Given the description of an element on the screen output the (x, y) to click on. 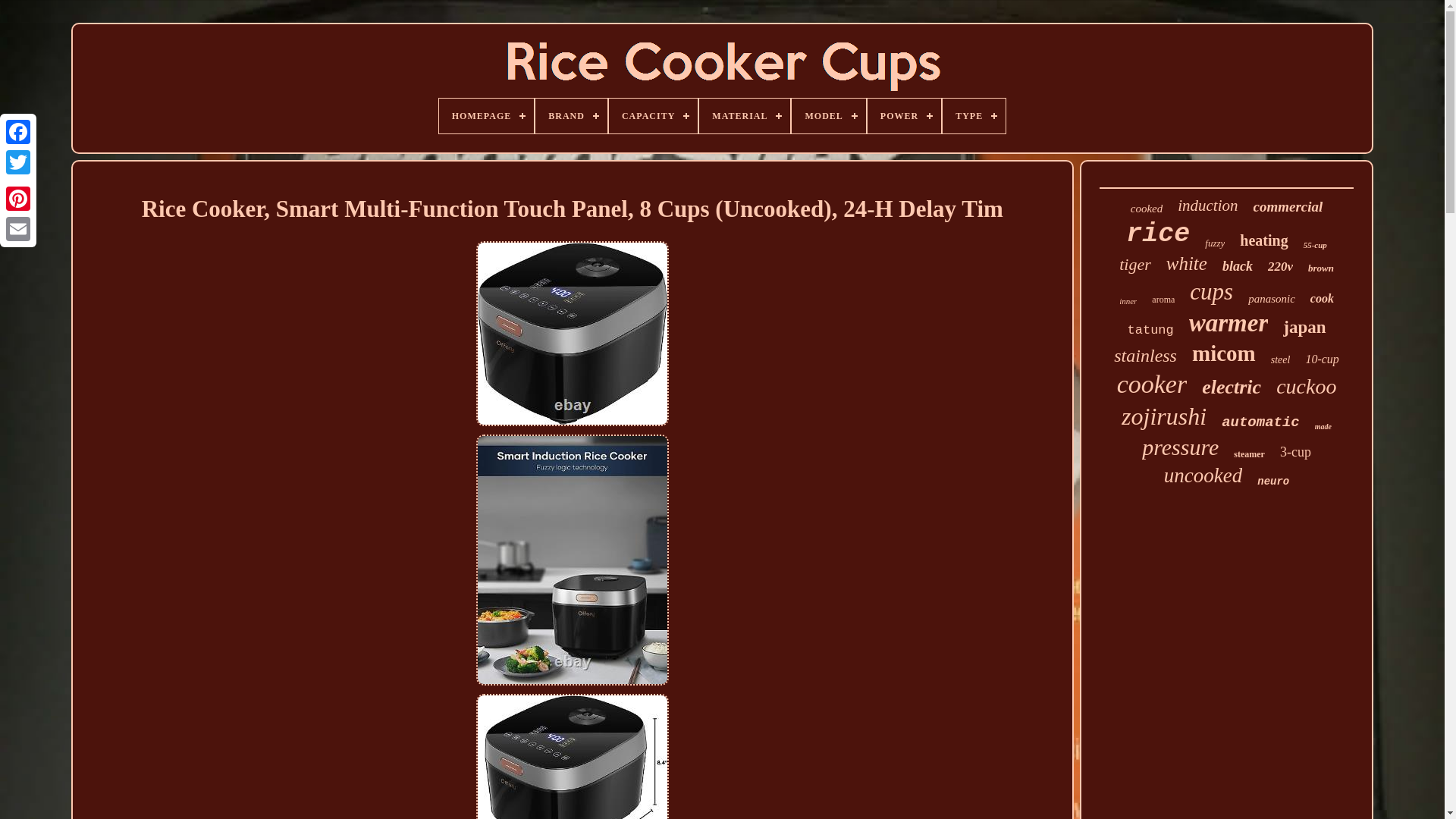
CAPACITY (652, 115)
HOMEPAGE (486, 115)
BRAND (571, 115)
